Given the description of an element on the screen output the (x, y) to click on. 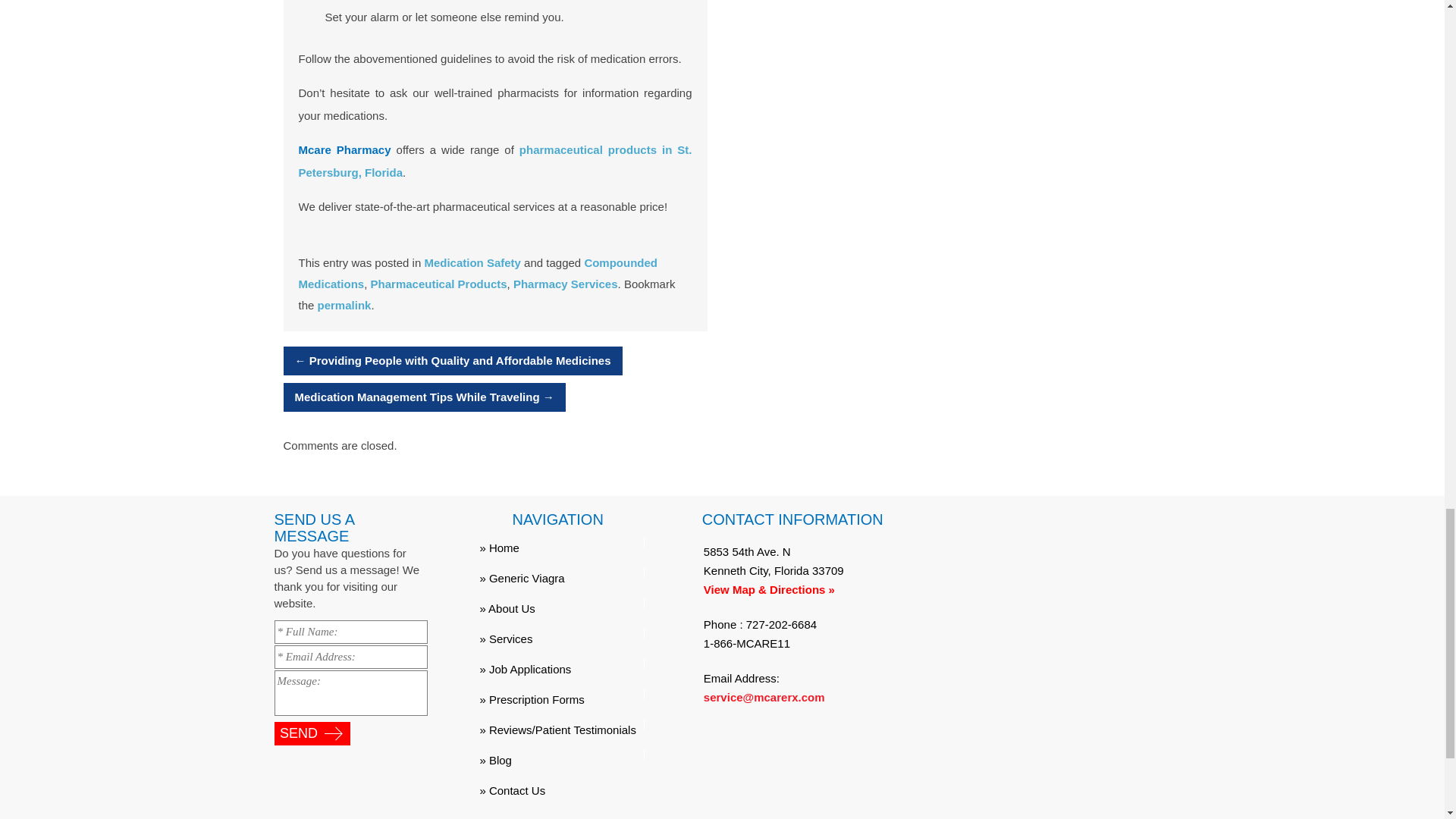
permalink (344, 305)
SEND  (312, 733)
Medication Safety (472, 262)
SEND  (312, 733)
Pharmacy Services (565, 283)
Permalink to Medication Safety: How to Prevent Common Errors (344, 305)
Pharmaceutical Products (438, 283)
Compounded Medications (478, 273)
pharmaceutical products in St. Petersburg, Florida (495, 161)
